Given the description of an element on the screen output the (x, y) to click on. 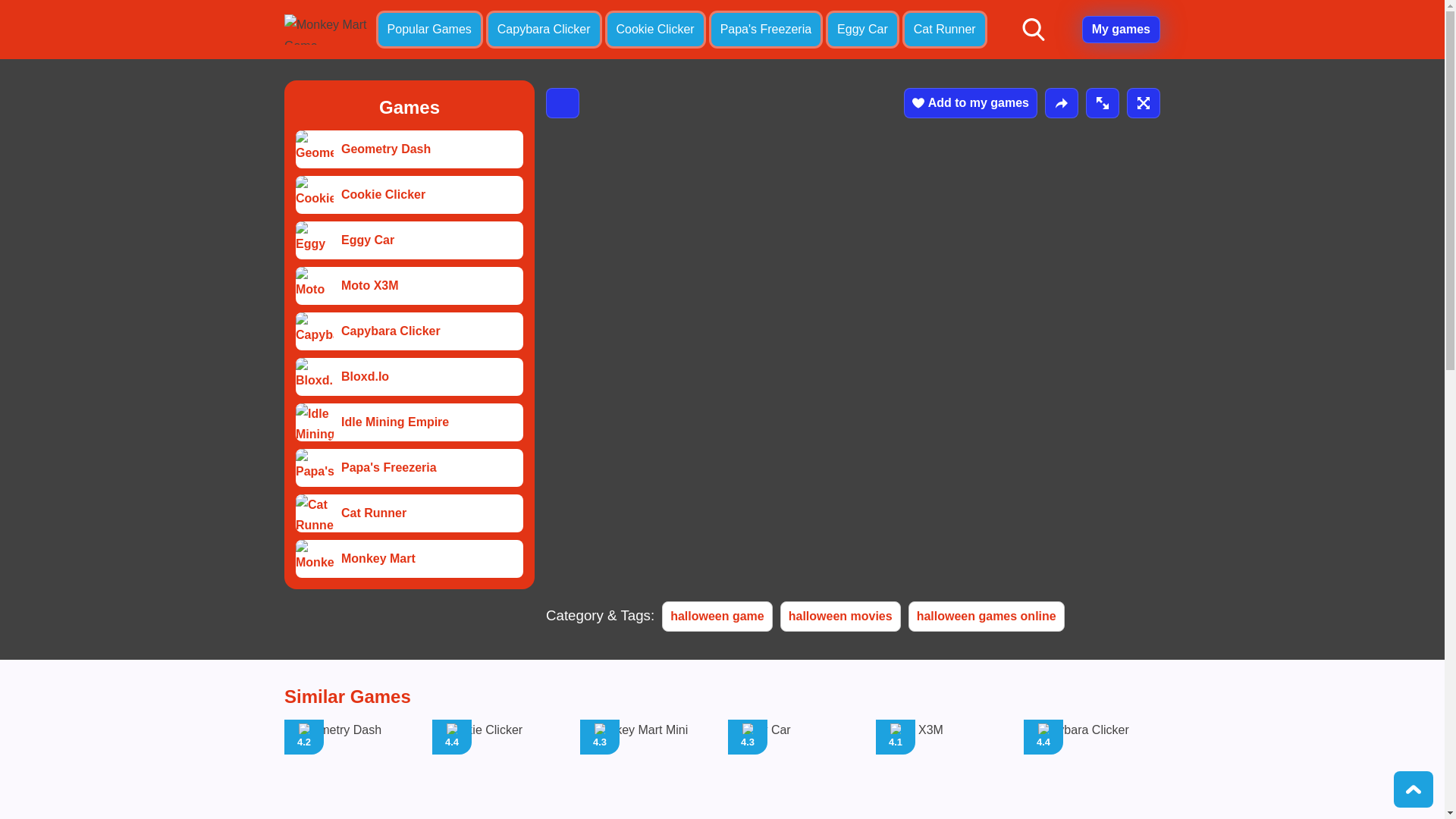
Geometry Dash (943, 769)
Halloween Hoops (351, 769)
Capybara Clicker (314, 558)
Geometry Dash (314, 331)
Papa'S Freezeria (408, 149)
Eggy Car (766, 29)
Cookie Clicker (796, 769)
Cookie Clicker (408, 240)
Papa's Freezeria (500, 769)
Idle Mining Empire (647, 769)
